Given the description of an element on the screen output the (x, y) to click on. 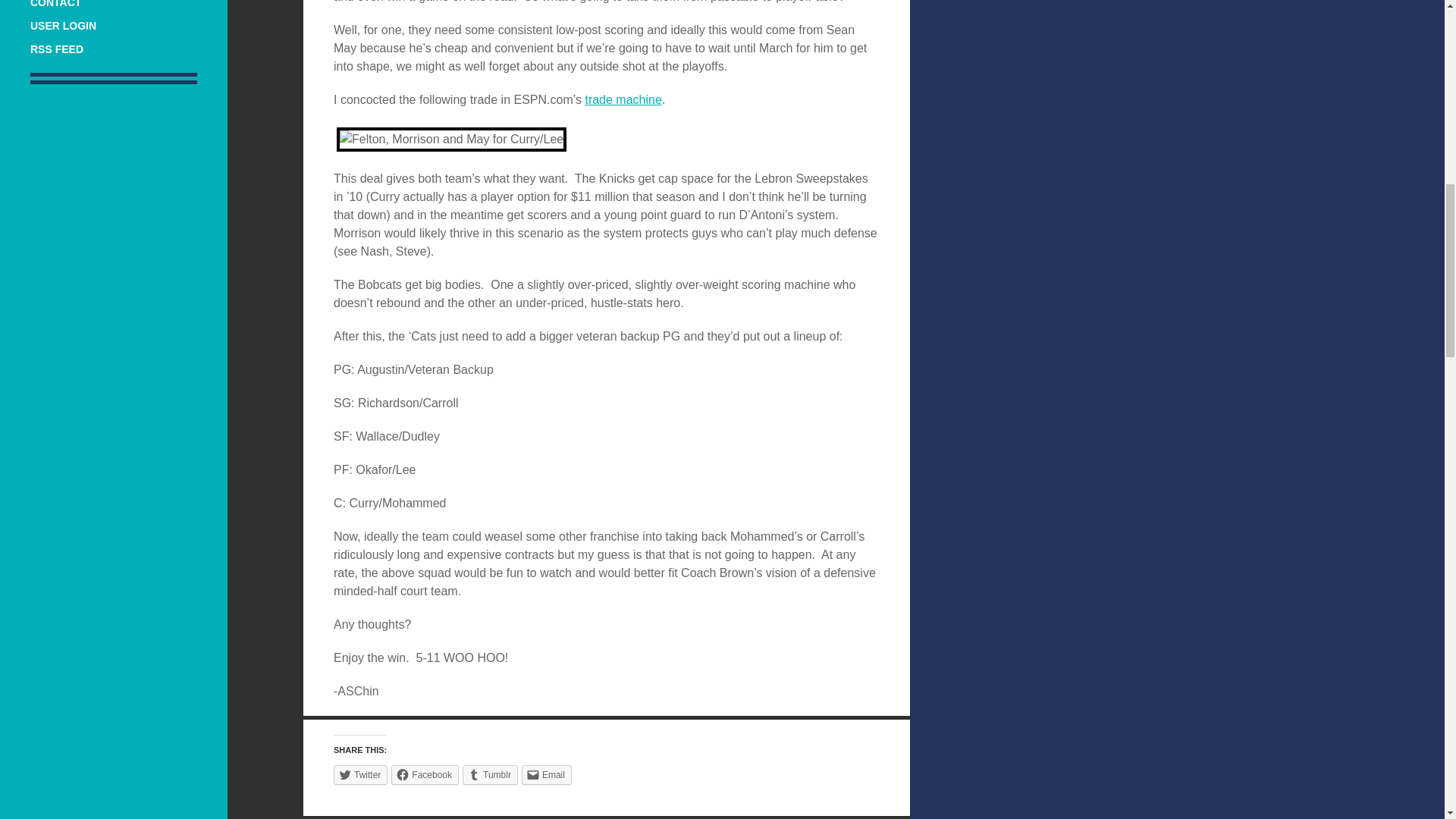
ESPN.com - TRADE MACHINE (623, 99)
Twitter (360, 773)
RSS FEED (56, 49)
USER LOGIN (63, 25)
Email (546, 773)
Facebook (424, 773)
trade machine (623, 99)
Click to share on Twitter (360, 773)
Tumblr (490, 773)
CONTACT (55, 4)
